Given the description of an element on the screen output the (x, y) to click on. 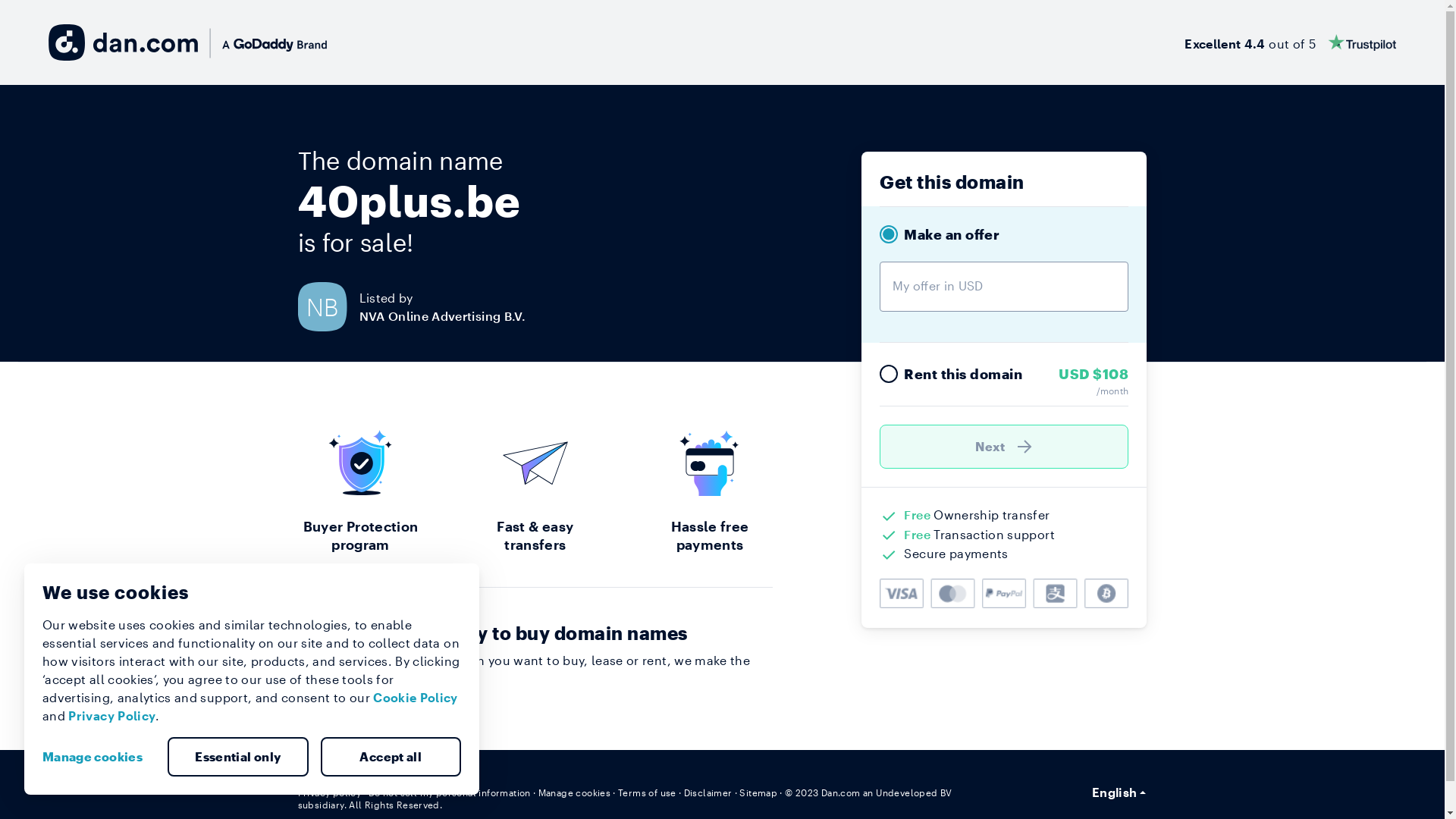
Cookie Policy Element type: text (415, 697)
Sitemap Element type: text (758, 792)
Privacy policy Element type: text (328, 792)
Terms of use Element type: text (647, 792)
Manage cookies Element type: text (574, 792)
Do not sell my personal information Element type: text (449, 792)
Next
) Element type: text (1003, 446)
Manage cookies Element type: text (98, 756)
Privacy Policy Element type: text (111, 715)
English Element type: text (1119, 792)
Excellent 4.4 out of 5 Element type: text (1290, 42)
Essential only Element type: text (237, 756)
Disclaimer Element type: text (708, 792)
Accept all Element type: text (390, 756)
